Given the description of an element on the screen output the (x, y) to click on. 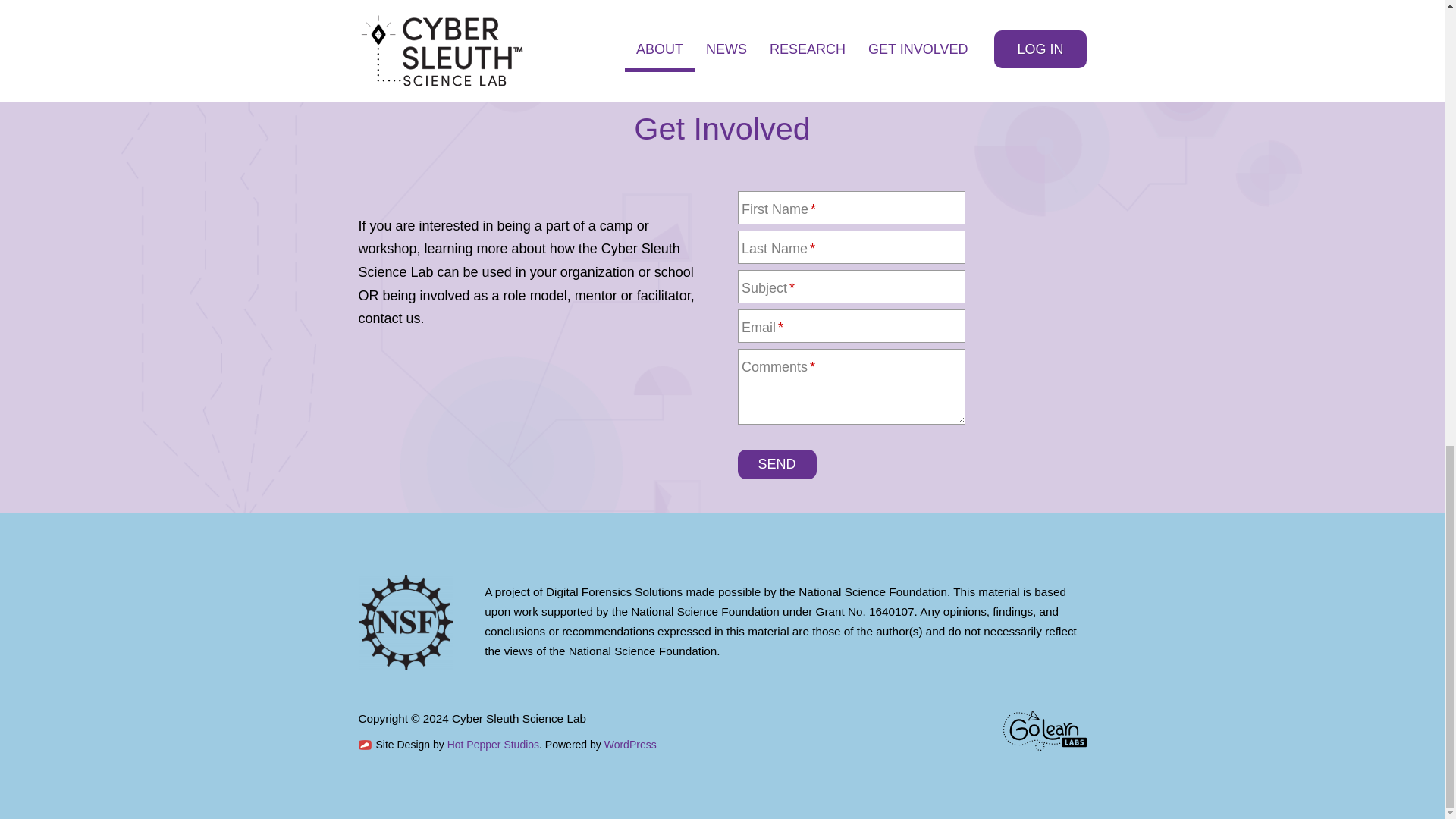
Subject (849, 286)
Send (775, 464)
Comments (849, 386)
First Name (849, 207)
Email (849, 326)
Hot Pepper Studios (492, 744)
WordPress (630, 744)
Send (775, 464)
Last Name (849, 246)
